Given the description of an element on the screen output the (x, y) to click on. 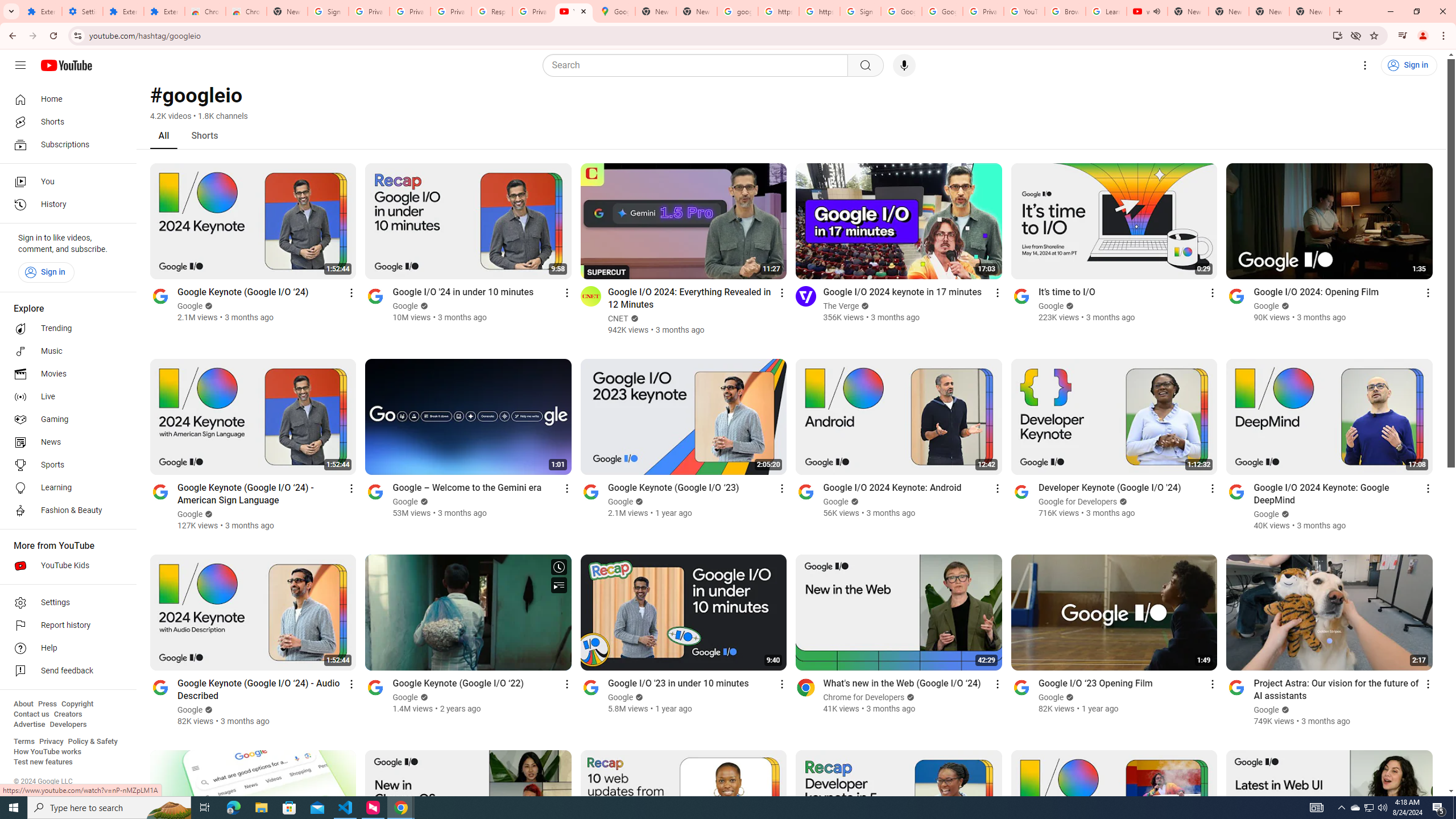
All (163, 135)
https://scholar.google.com/ (777, 11)
Live (64, 396)
Movies (64, 373)
Press (46, 703)
Settings (1365, 65)
Search (697, 65)
Shorts (204, 135)
Third-party cookies blocked (1355, 35)
